Given the description of an element on the screen output the (x, y) to click on. 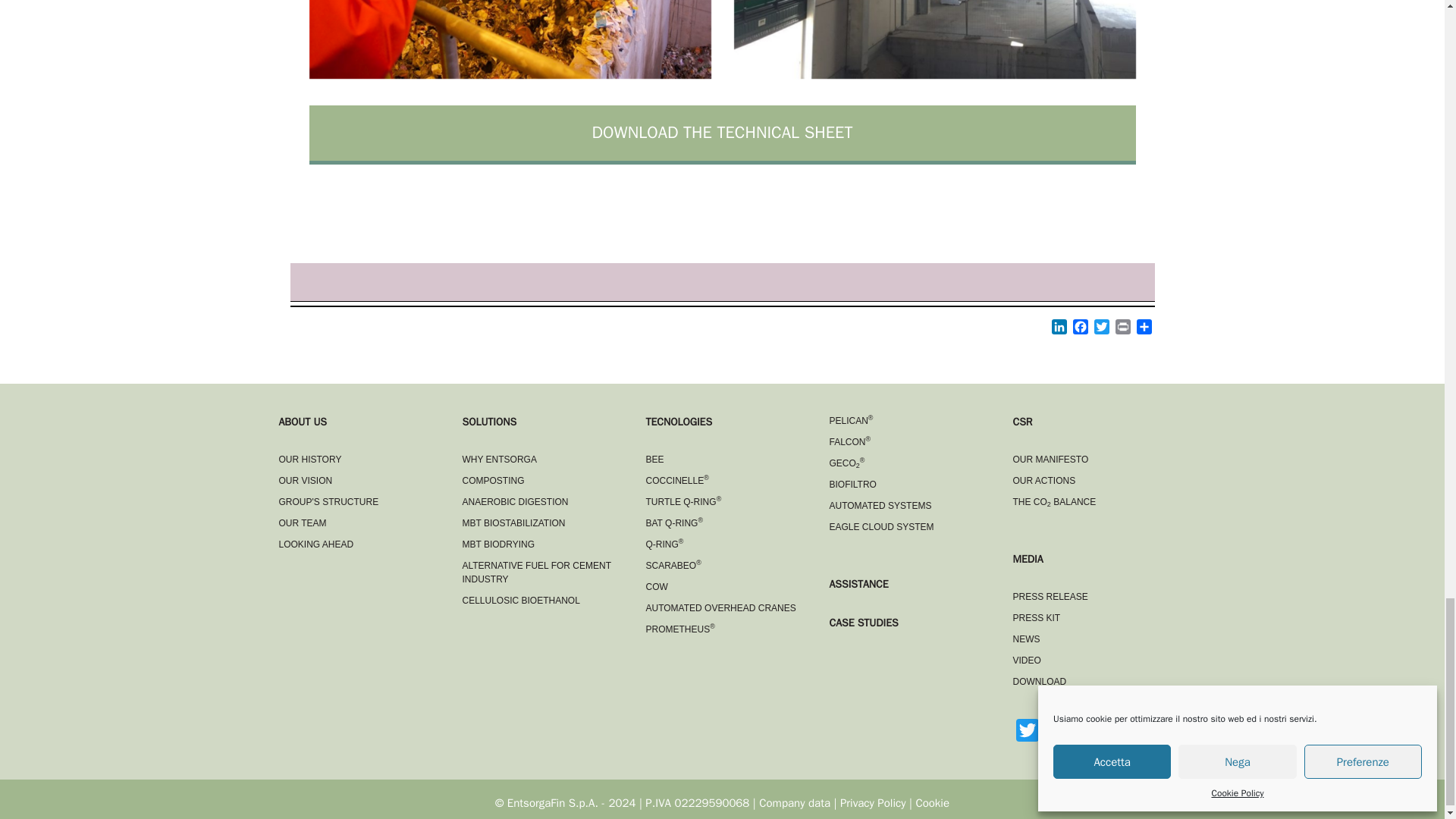
Our team (316, 543)
Twitter (1101, 328)
LinkedIn (1058, 328)
group's structure (328, 501)
Print (1122, 328)
carroponte-automatico04 (509, 39)
carroponte-automatico05 (934, 39)
Facebook (1079, 328)
our vision (306, 480)
OUR HISTORY (310, 459)
Our team (302, 522)
